Given the description of an element on the screen output the (x, y) to click on. 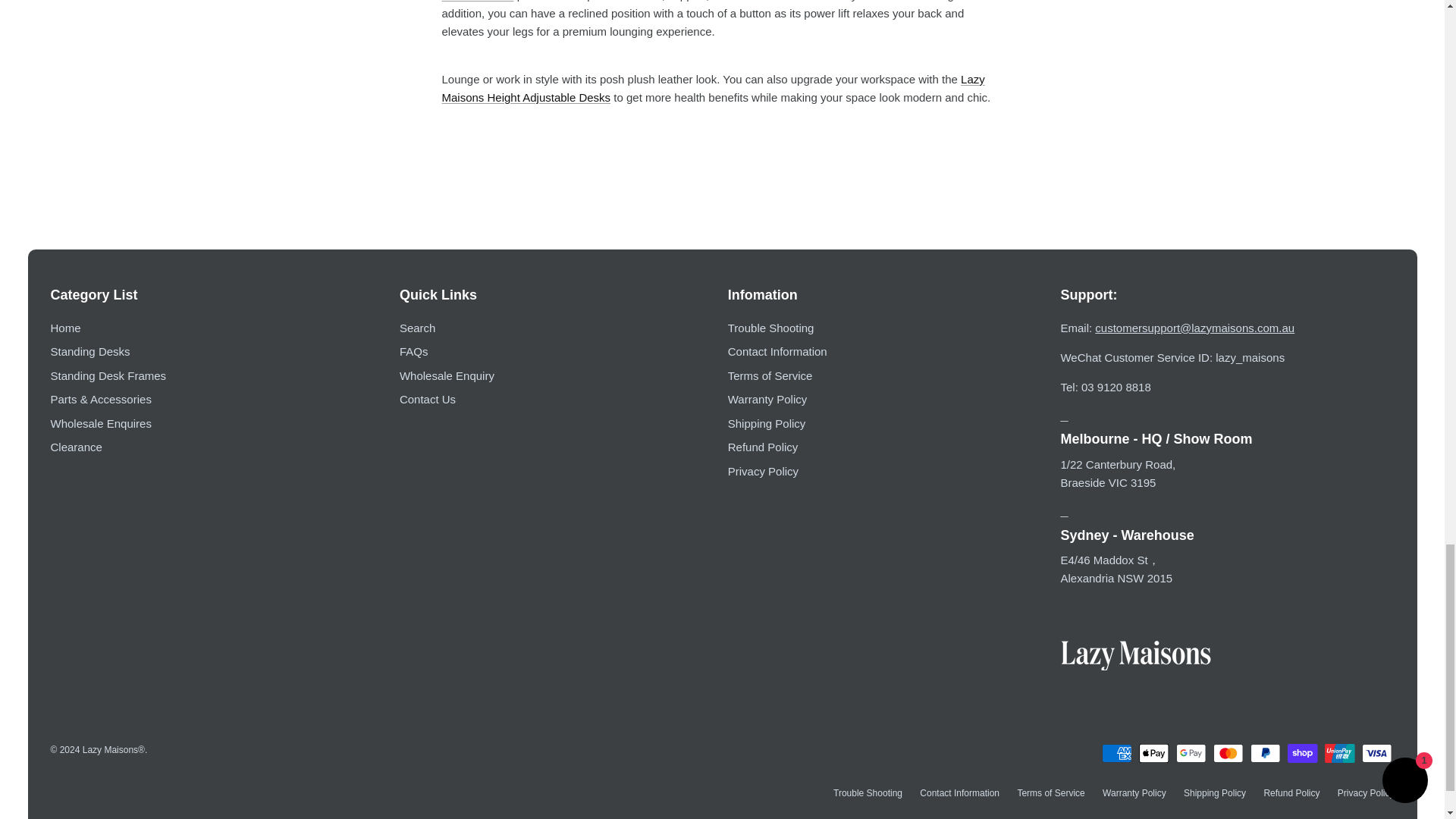
Visa (1376, 752)
Apple Pay (1153, 752)
Mastercard (1227, 752)
American Express (1116, 752)
Union Pay (1339, 752)
Google Pay (1190, 752)
PayPal (1264, 752)
Shop Pay (1302, 752)
